Given the description of an element on the screen output the (x, y) to click on. 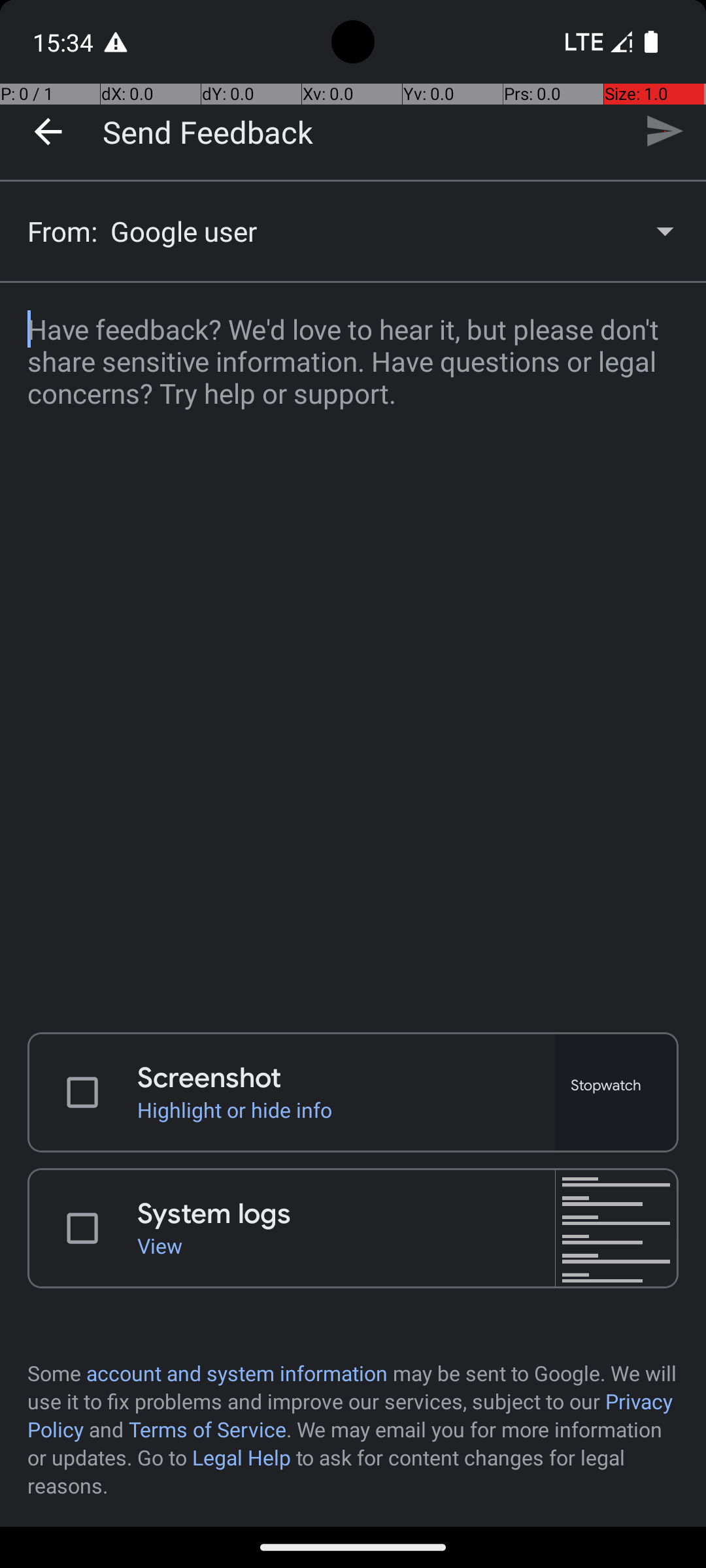
Send Feedback Element type: android.widget.TextView (207, 131)
Send Element type: android.widget.Button (664, 131)
Have feedback? We'd love to hear it, but please don't share sensitive information. Have questions or legal concerns? Try help or support. Element type: android.widget.EditText (353, 649)
Some account and system information may be sent to Google. We will use it to fix problems and improve our services, subject to our Privacy Policy and Terms of Service. We may email you for more information or updates. Go to Legal Help to ask for content changes for legal reasons. Element type: android.widget.TextView (352, 1428)
From:  Google user Element type: android.widget.TextView (352, 230)
Screenshot Element type: android.widget.TextView (345, 1077)
Highlight or hide info Element type: android.widget.TextView (345, 1109)
System logs Element type: android.widget.TextView (345, 1213)
View Element type: android.widget.TextView (345, 1245)
Phone one bar. Element type: android.widget.FrameLayout (595, 41)
